Given the description of an element on the screen output the (x, y) to click on. 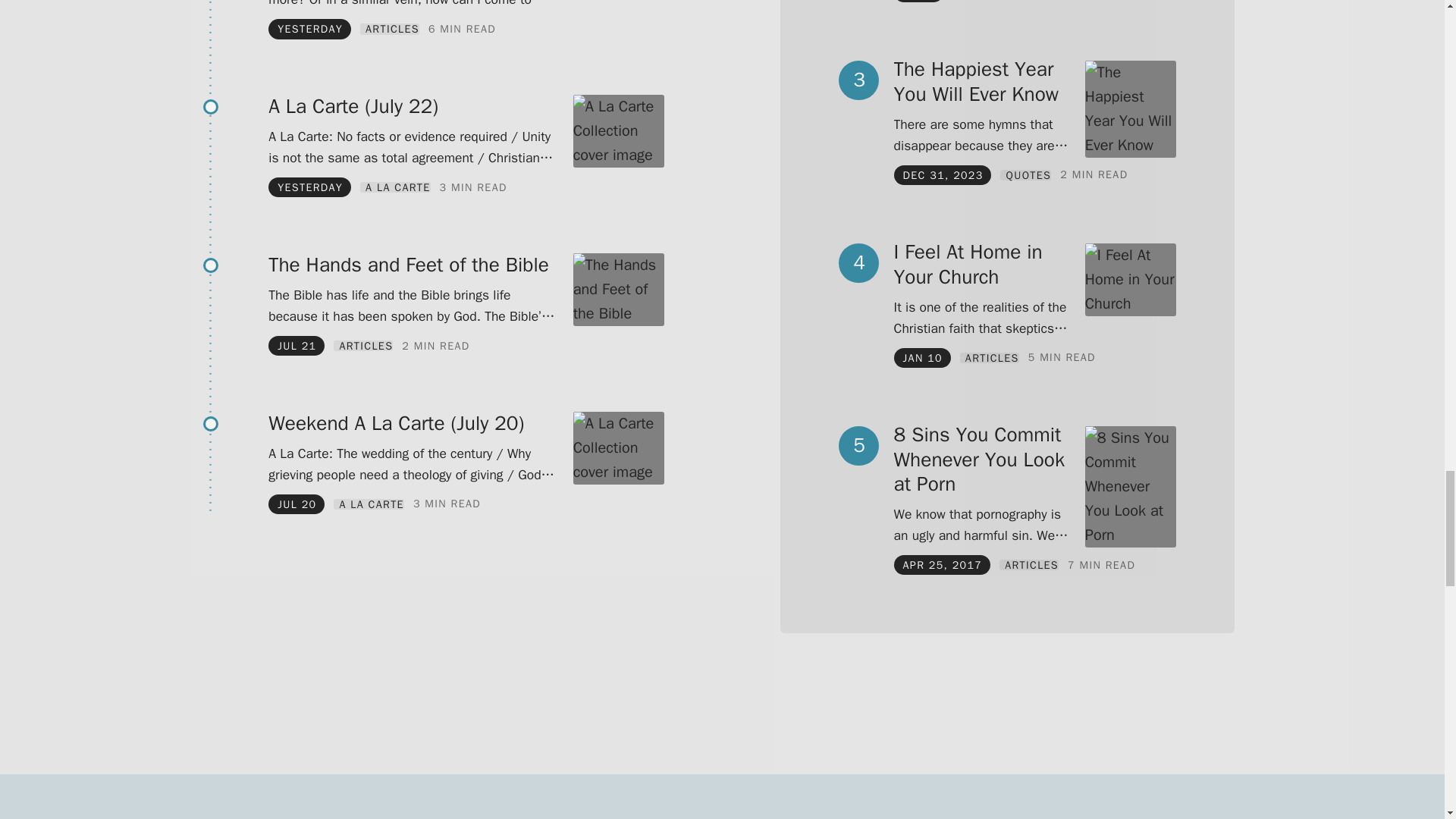
Jul 22, 2024 at 12:01 am (310, 187)
897 words (462, 29)
Jul 22, 2024 at 12:02 am (310, 29)
